Given the description of an element on the screen output the (x, y) to click on. 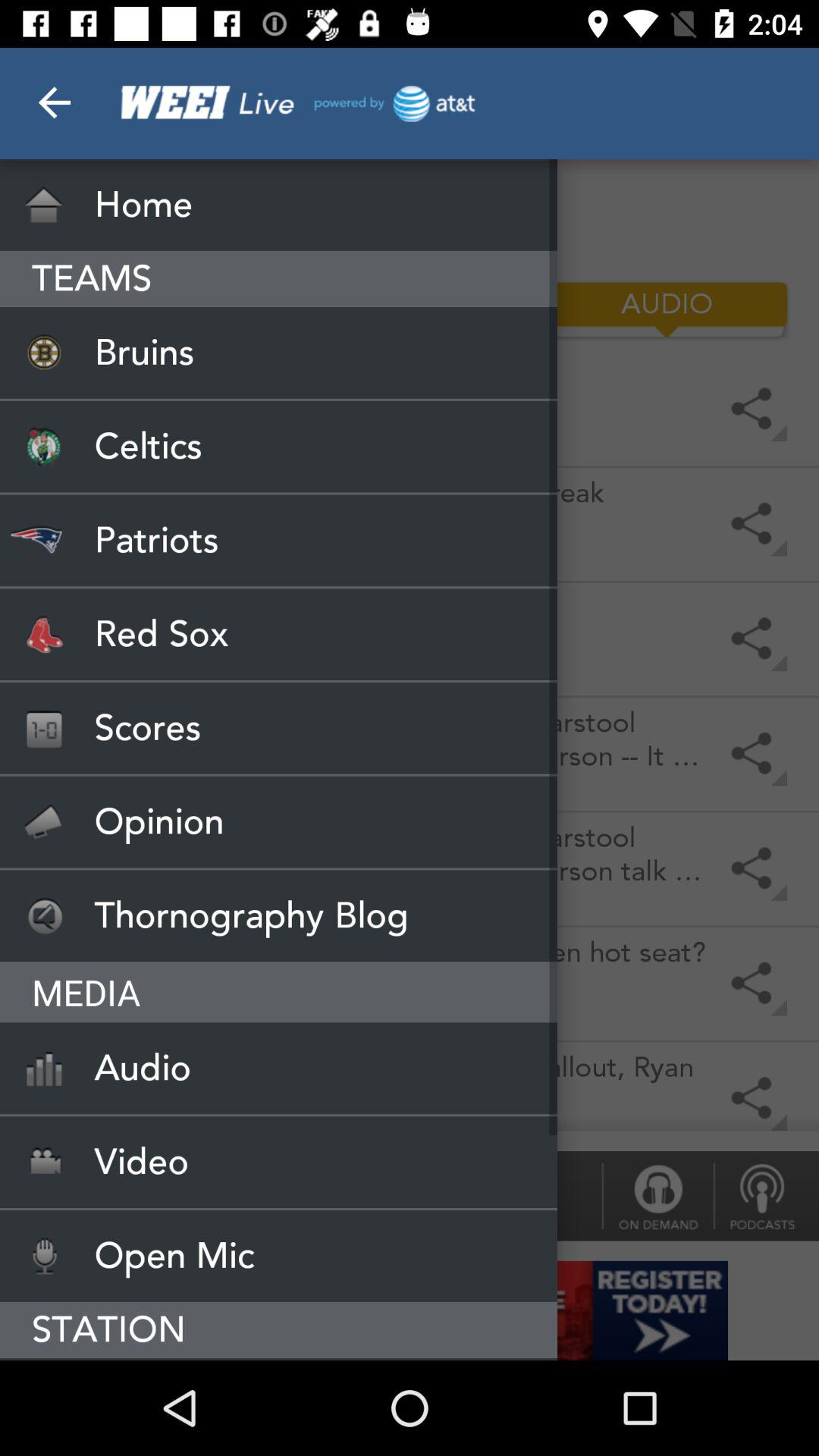
scroll to blogs item (152, 309)
